Given the description of an element on the screen output the (x, y) to click on. 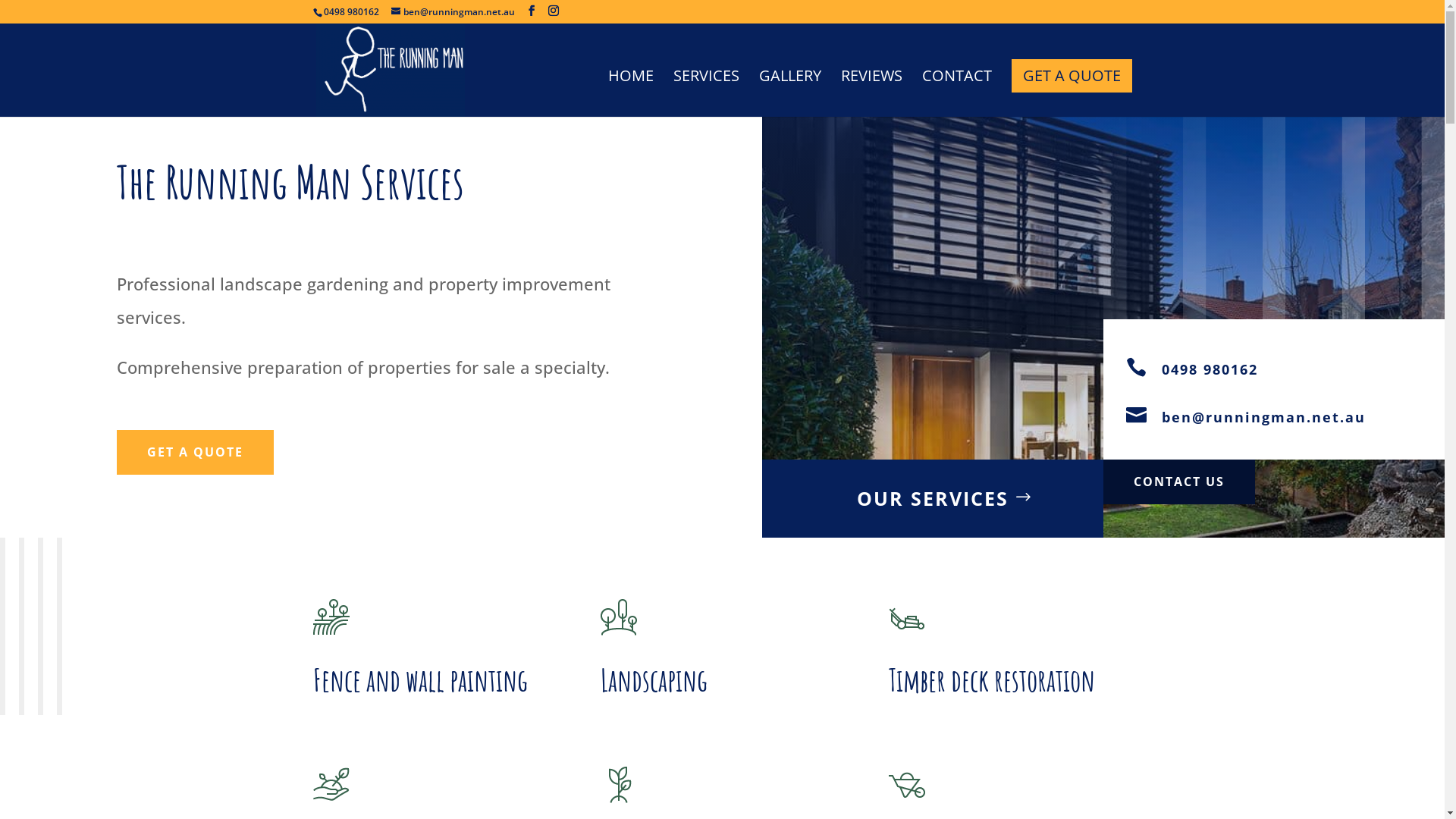
REVIEWS Element type: text (870, 93)
gardening-icon-green-07 Element type: hover (330, 617)
HOME Element type: text (630, 93)
CONTACT US Element type: text (1179, 481)
GALLERY Element type: text (789, 93)
OUR SERVICES Element type: text (932, 498)
GET A QUOTE Element type: text (194, 451)
ben@runningman.net.au Element type: text (452, 11)
GET A QUOTE Element type: text (1071, 75)
ben@runningman.net.au Element type: text (1263, 416)
SERVICES Element type: text (706, 93)
CONTACT Element type: text (956, 93)
gardening-icon-green-01 Element type: hover (330, 784)
gardening-icon-green-09 Element type: hover (618, 784)
gardening-icon-green-03 Element type: hover (906, 617)
gardening-icon-green-04 Element type: hover (906, 784)
gardening-icon-green-02 Element type: hover (618, 617)
